Given the description of an element on the screen output the (x, y) to click on. 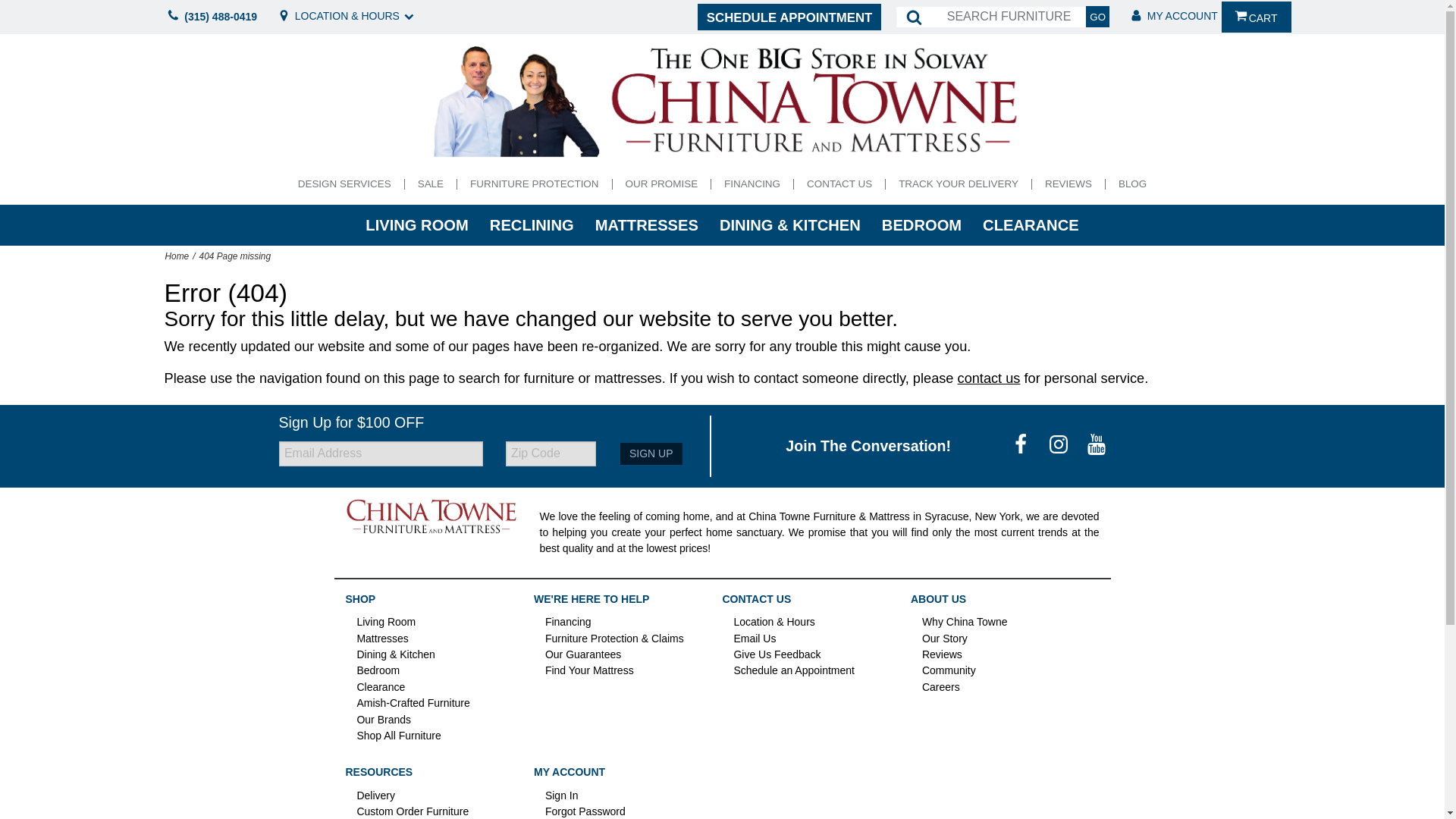
CART (1256, 16)
Visit Our Facebook Page (1022, 444)
FURNITURE PROTECTION (533, 184)
Visit Our Instagram Page (1060, 444)
BLOG (1132, 184)
Store details (345, 16)
DESIGN SERVICES (344, 184)
Go (1097, 16)
SALE (429, 184)
OUR PROMISE (661, 184)
